Given the description of an element on the screen output the (x, y) to click on. 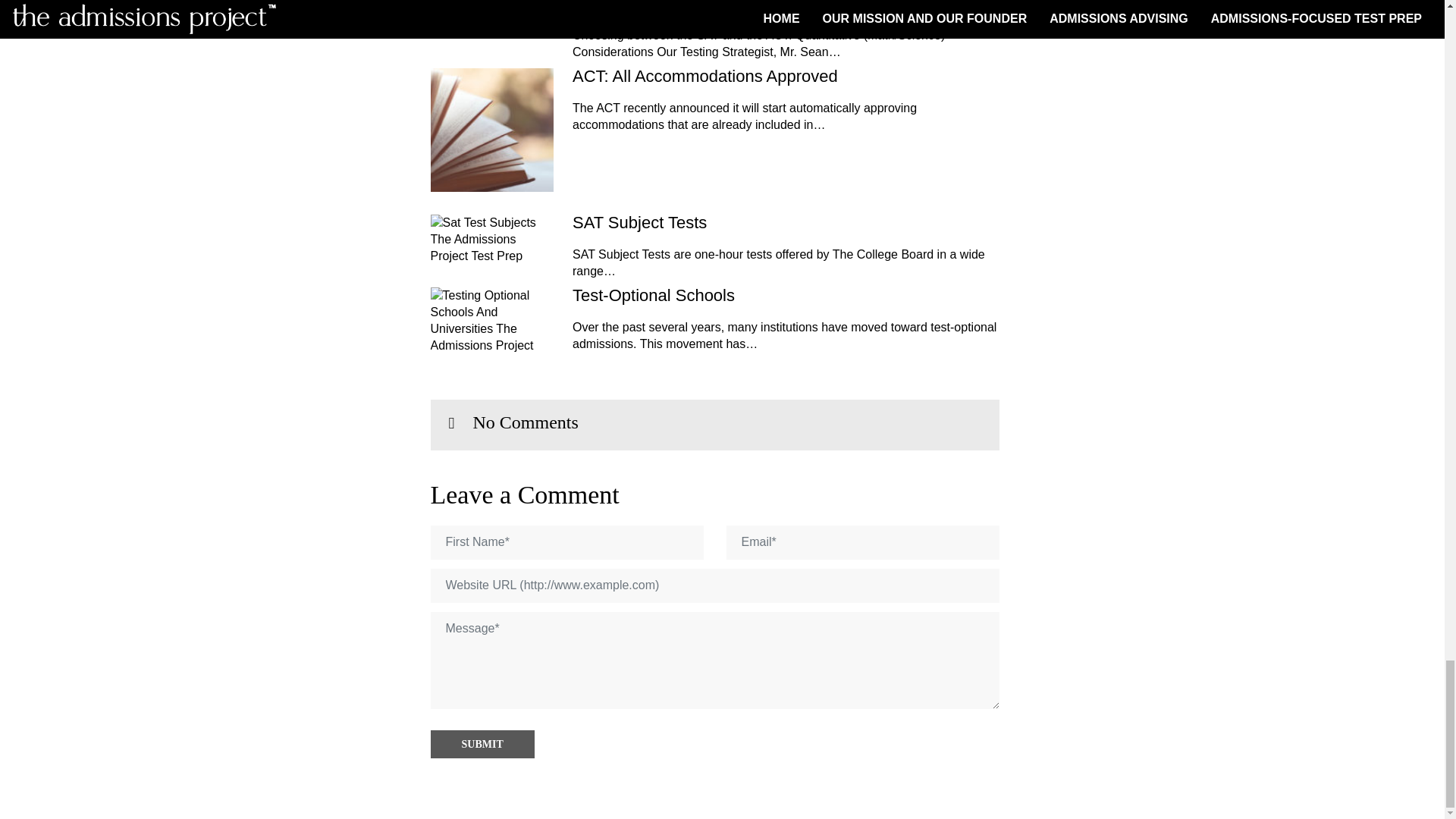
ACT: All Accommodations Approved (785, 76)
SAT or ACT? Part 2 (785, 6)
SAT Subject Tests (785, 222)
Test-Optional Schools (785, 295)
Submit (482, 744)
Submit (482, 744)
